Given the description of an element on the screen output the (x, y) to click on. 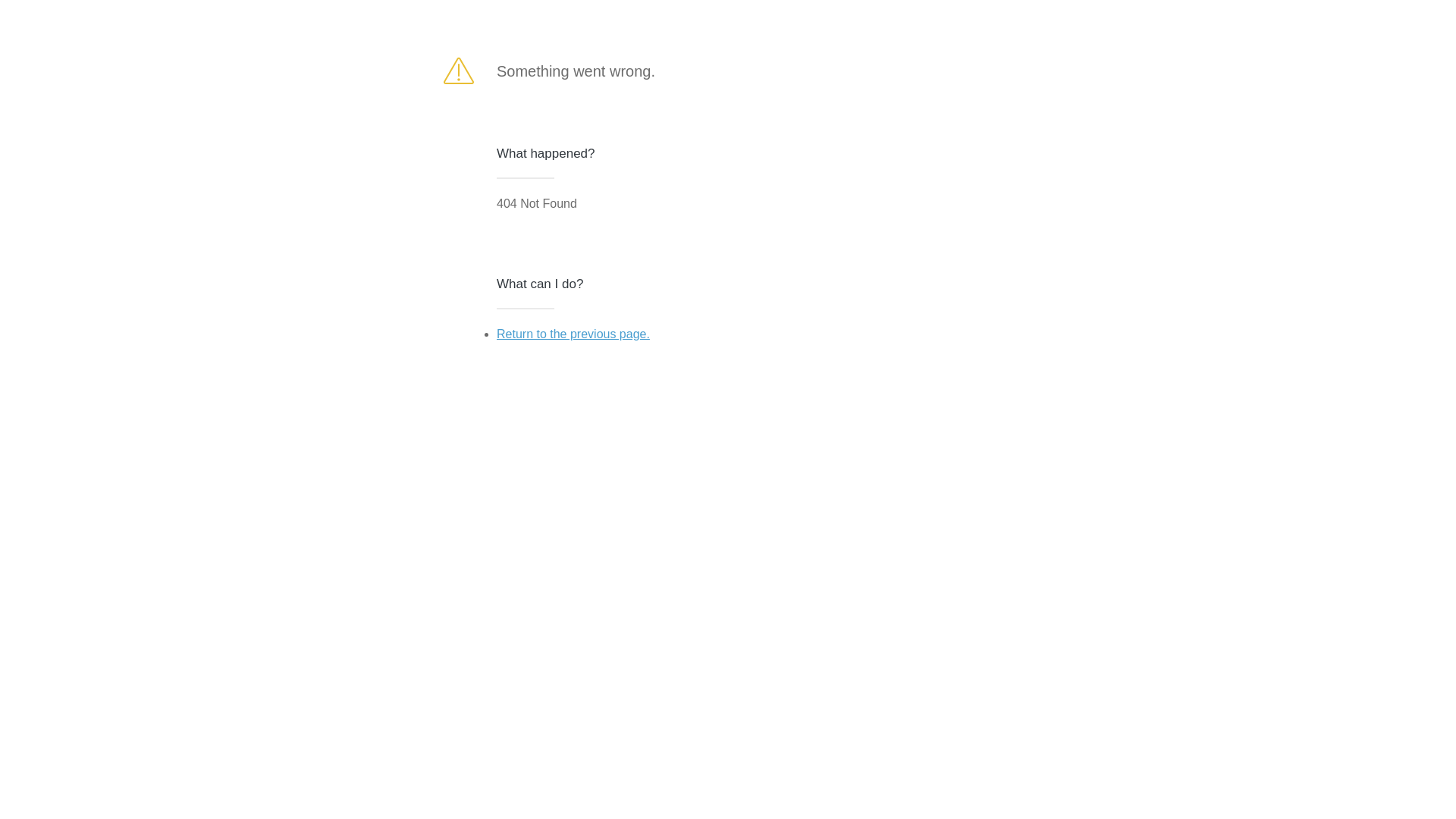
Return to the previous page. Element type: text (572, 333)
